Given the description of an element on the screen output the (x, y) to click on. 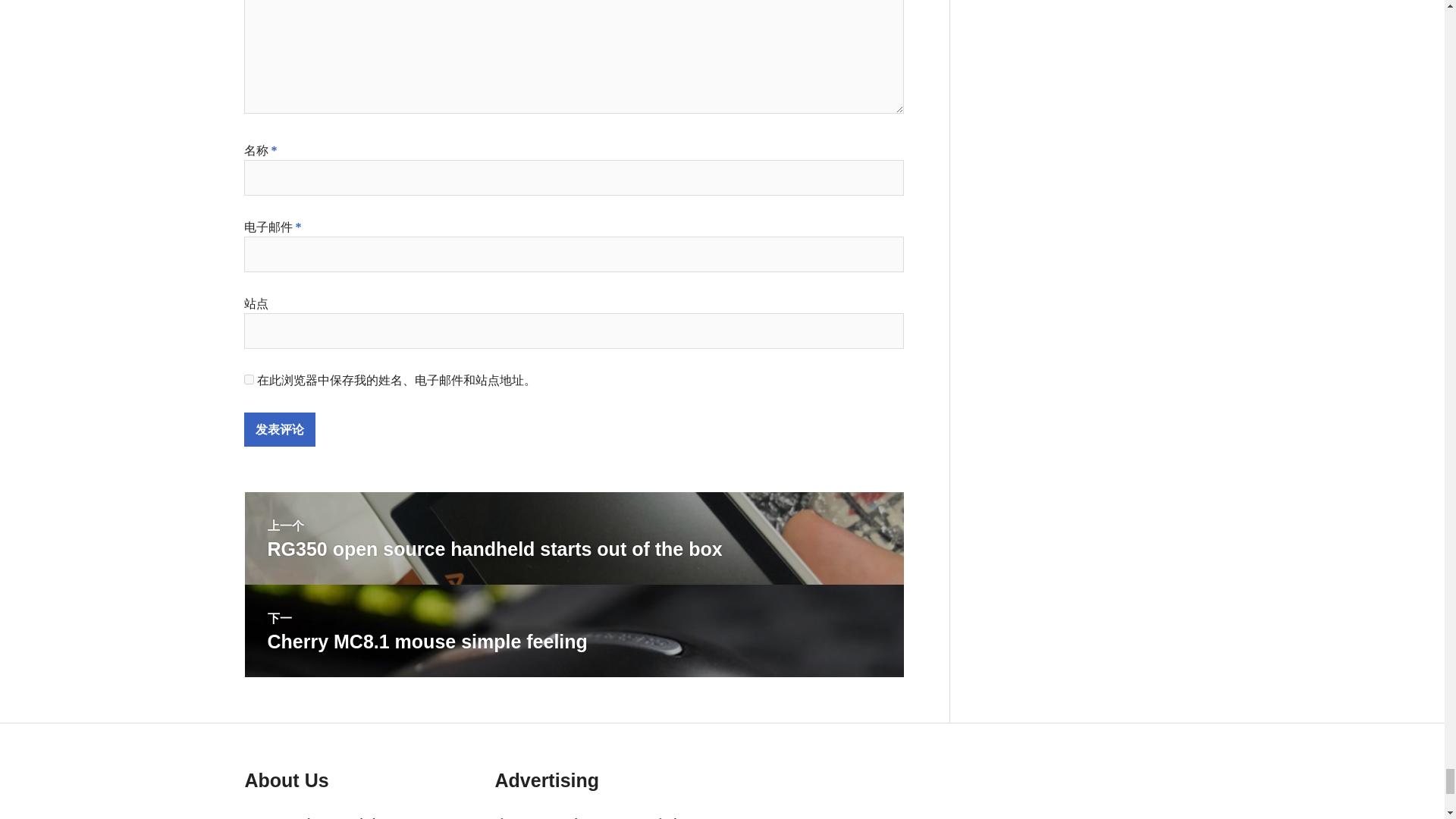
yes (248, 379)
